Given the description of an element on the screen output the (x, y) to click on. 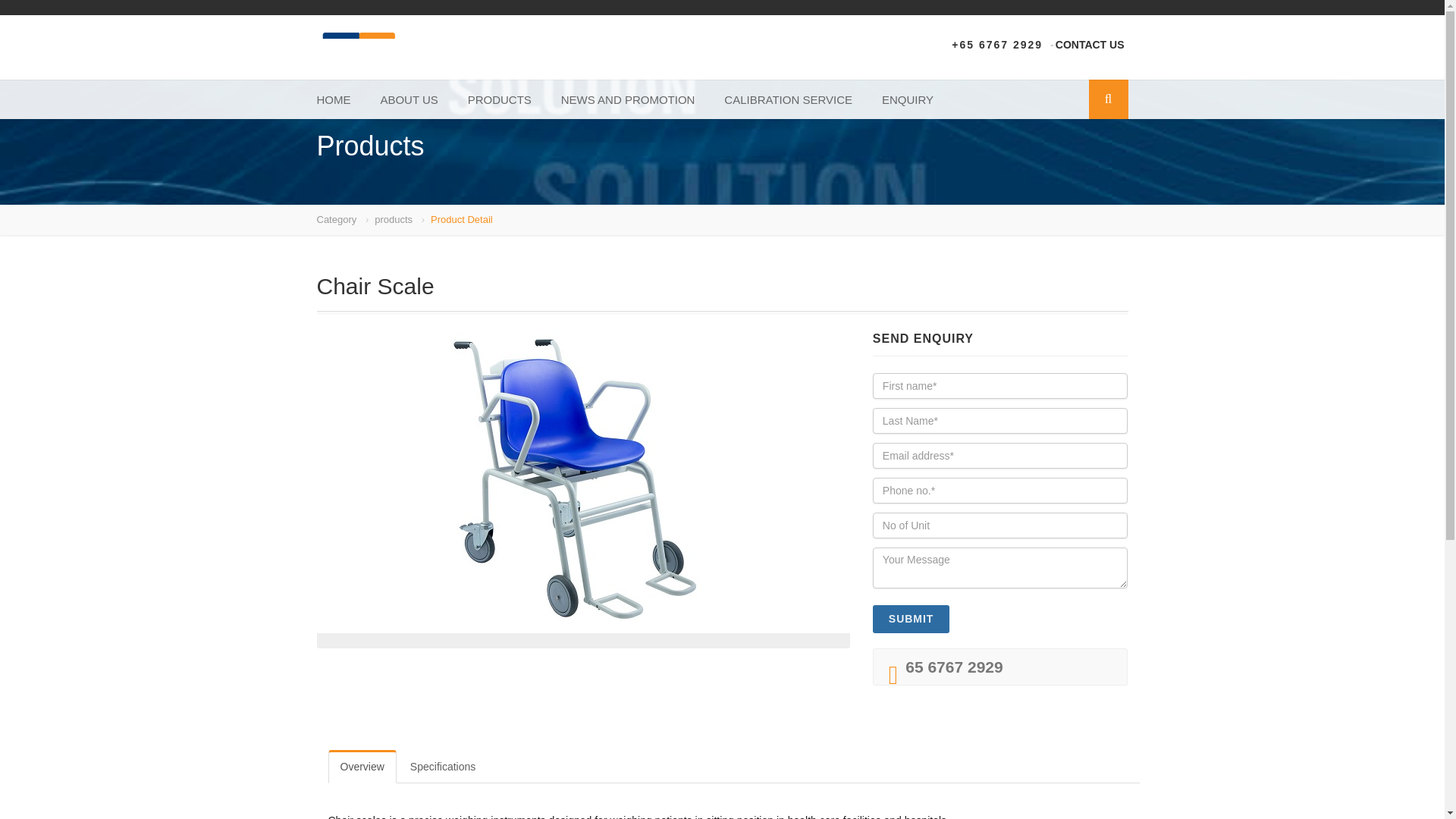
Overview (361, 766)
Submit (911, 619)
Specifications (442, 766)
ABOUT US (409, 99)
ENQUIRY (907, 99)
CALIBRATION SERVICE (787, 99)
products (393, 219)
CONTACT US (1089, 44)
NEWS AND PROMOTION (627, 99)
PRODUCTS (499, 99)
